Given the description of an element on the screen output the (x, y) to click on. 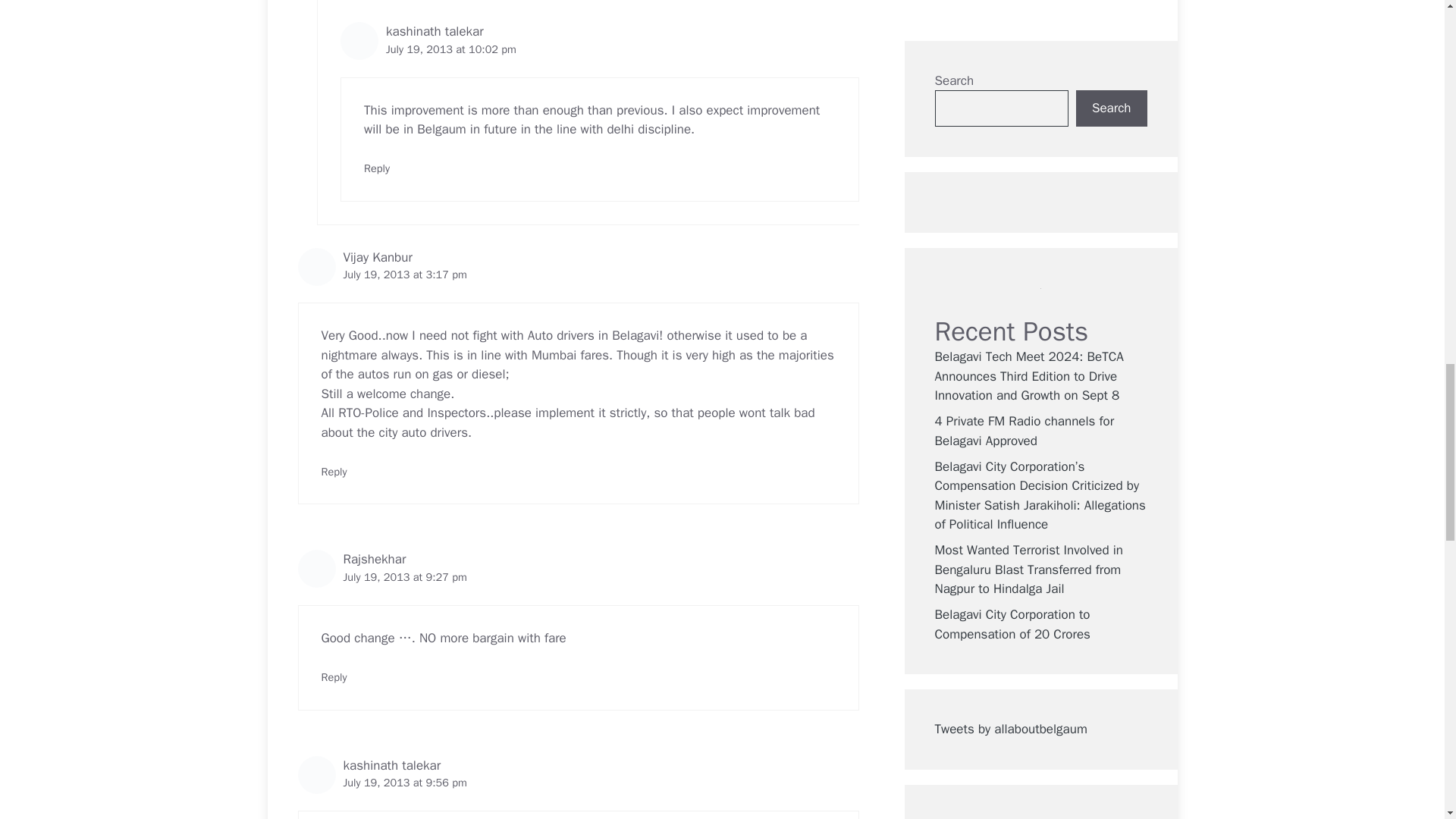
July 19, 2013 at 9:56 pm (403, 782)
Reply (334, 676)
Reply (334, 471)
Reply (377, 168)
July 19, 2013 at 3:17 pm (403, 274)
July 19, 2013 at 10:02 pm (450, 49)
July 19, 2013 at 9:27 pm (403, 576)
